Given the description of an element on the screen output the (x, y) to click on. 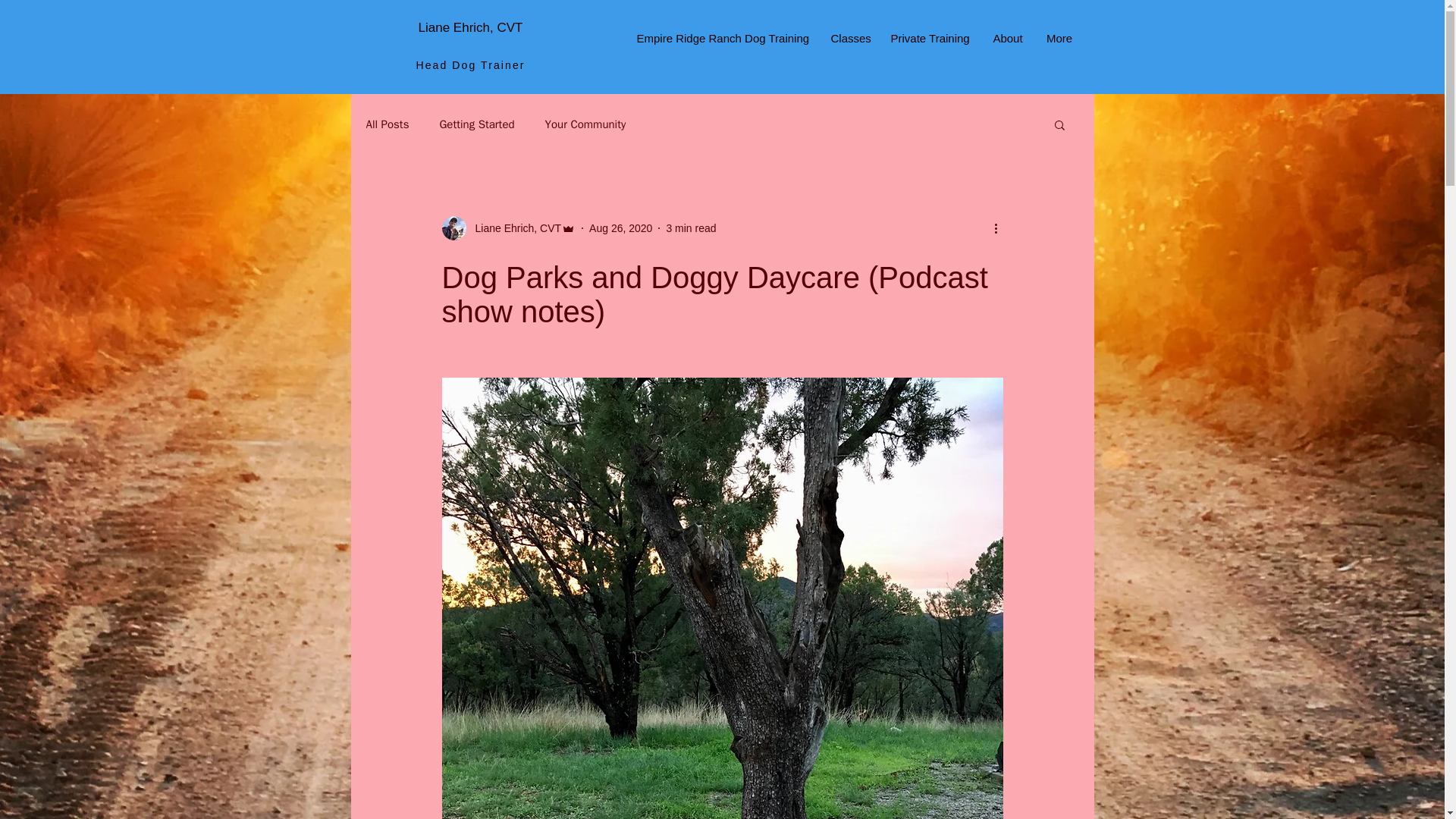
About (1008, 38)
Private Training (930, 38)
Liane Ehrich, CVT (512, 227)
Getting Started (476, 124)
Empire Ridge Ranch Dog Training (721, 38)
Head Dog Trainer (469, 64)
Liane Ehrich, CVT (470, 27)
Aug 26, 2020 (620, 227)
Liane Ehrich, CVT (508, 228)
3 min read (690, 227)
